Given the description of an element on the screen output the (x, y) to click on. 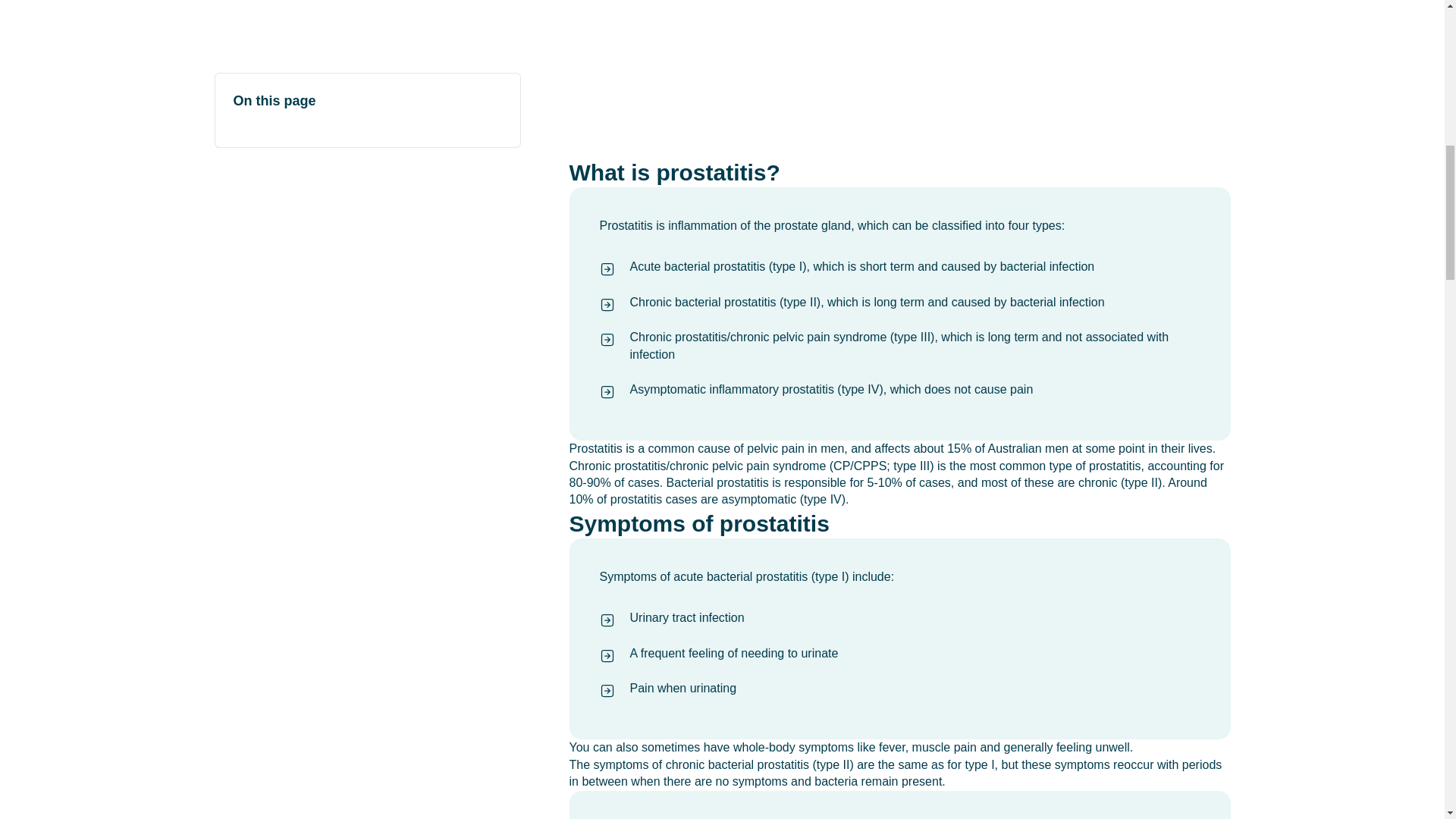
YouTube video player (899, 79)
